Given the description of an element on the screen output the (x, y) to click on. 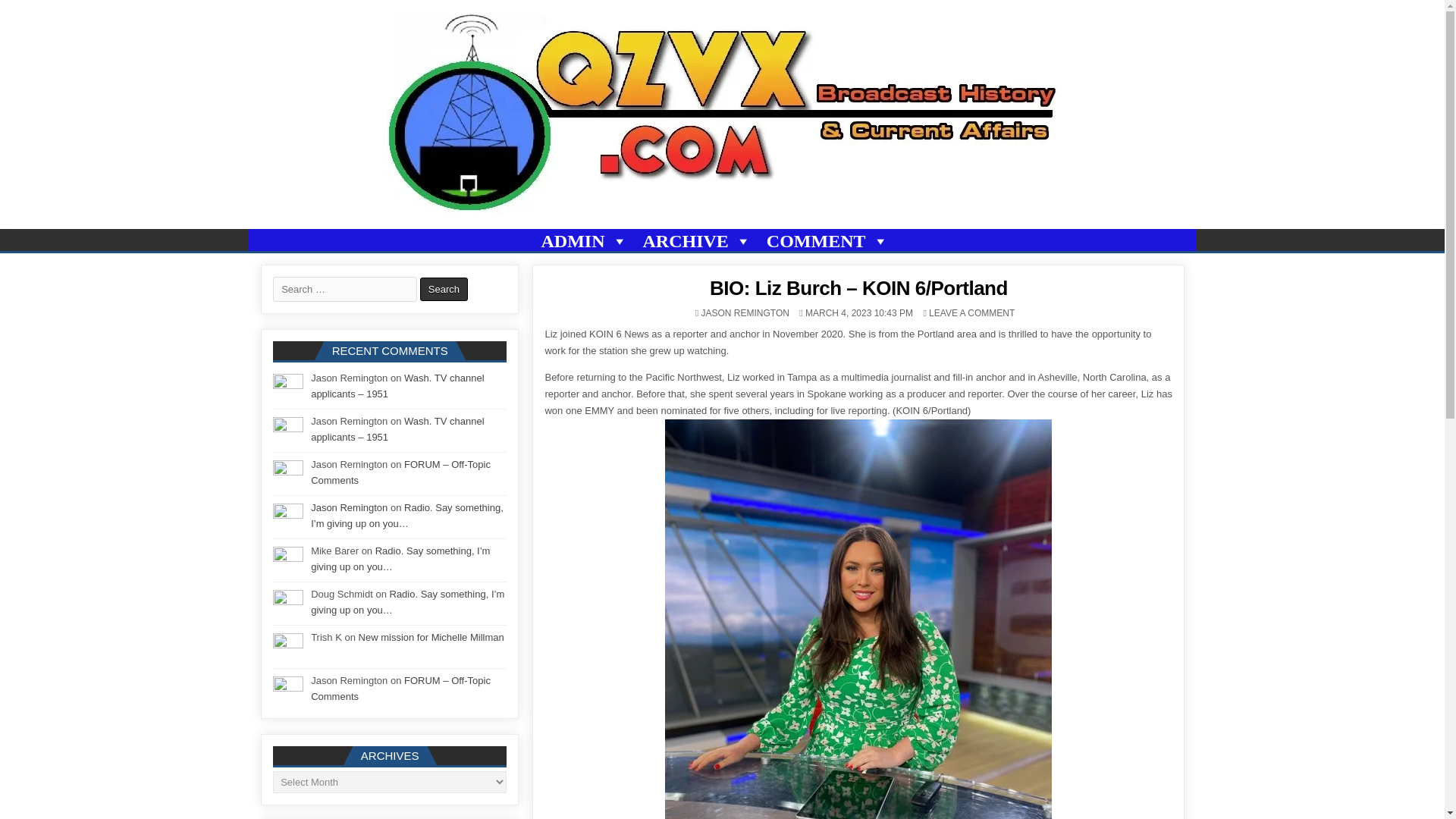
ADMIN (584, 240)
COMMENT (827, 240)
Search (443, 289)
Search (443, 289)
ARCHIVE (697, 240)
